Given the description of an element on the screen output the (x, y) to click on. 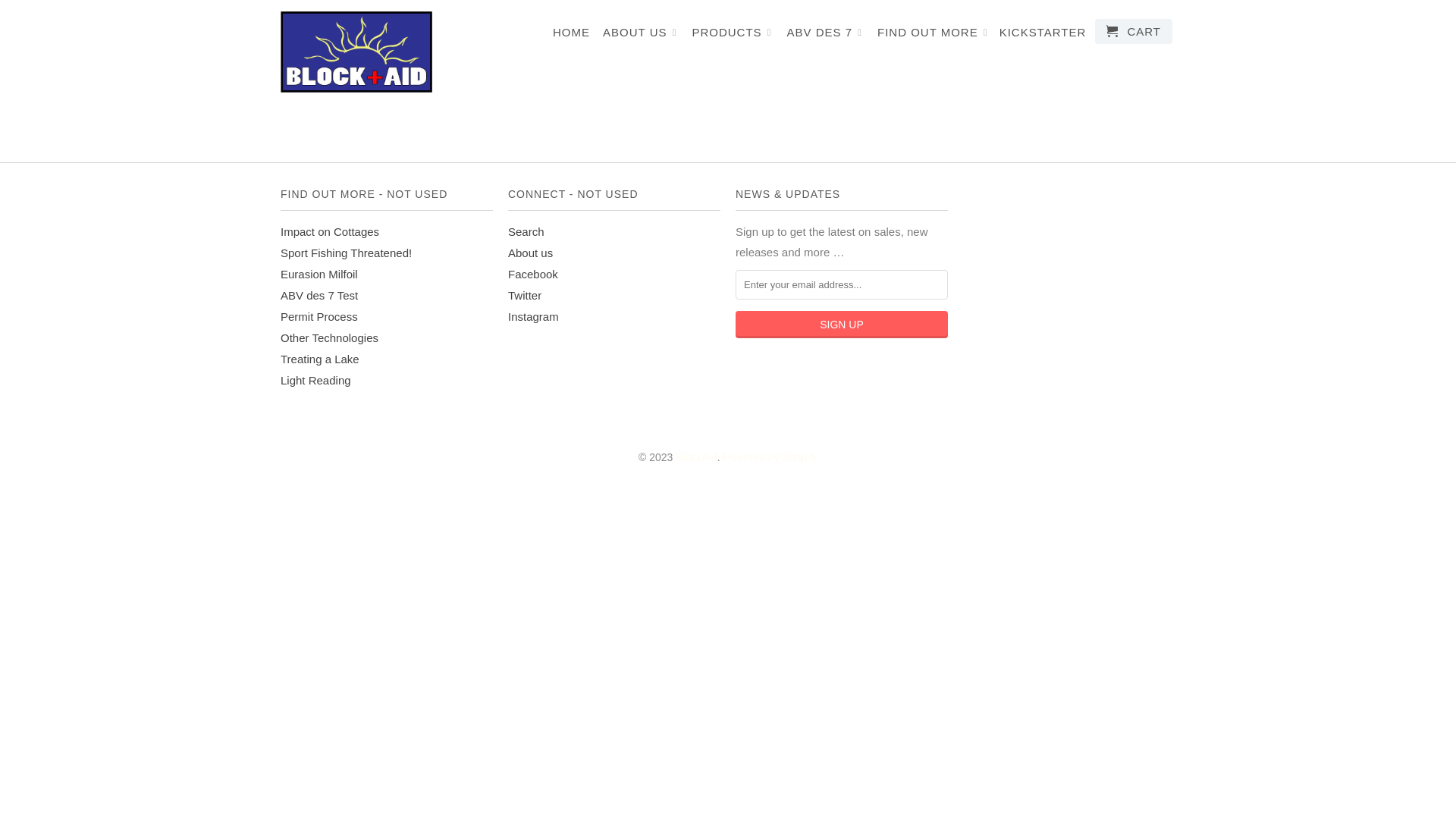
About us Element type: text (530, 252)
Facebook Element type: text (533, 273)
Impact on Cottages Element type: text (329, 231)
Sport Fishing Threatened! Element type: text (345, 252)
Eurasion Milfoil Element type: text (318, 273)
ABV des 7 Test Element type: text (318, 294)
Sign Up Element type: text (841, 324)
Other Technologies Element type: text (329, 337)
Twitter Element type: text (524, 294)
Search Element type: text (526, 231)
Instagram Element type: text (533, 316)
KICKSTARTER Element type: text (1042, 35)
Powered by Shopify Element type: text (769, 457)
CART Element type: text (1133, 30)
Permit Process Element type: text (318, 316)
Light Reading Element type: text (315, 379)
BlockAid Element type: text (695, 457)
BlockAid Element type: hover (356, 51)
Treating a Lake Element type: text (319, 358)
HOME Element type: text (570, 35)
